Given the description of an element on the screen output the (x, y) to click on. 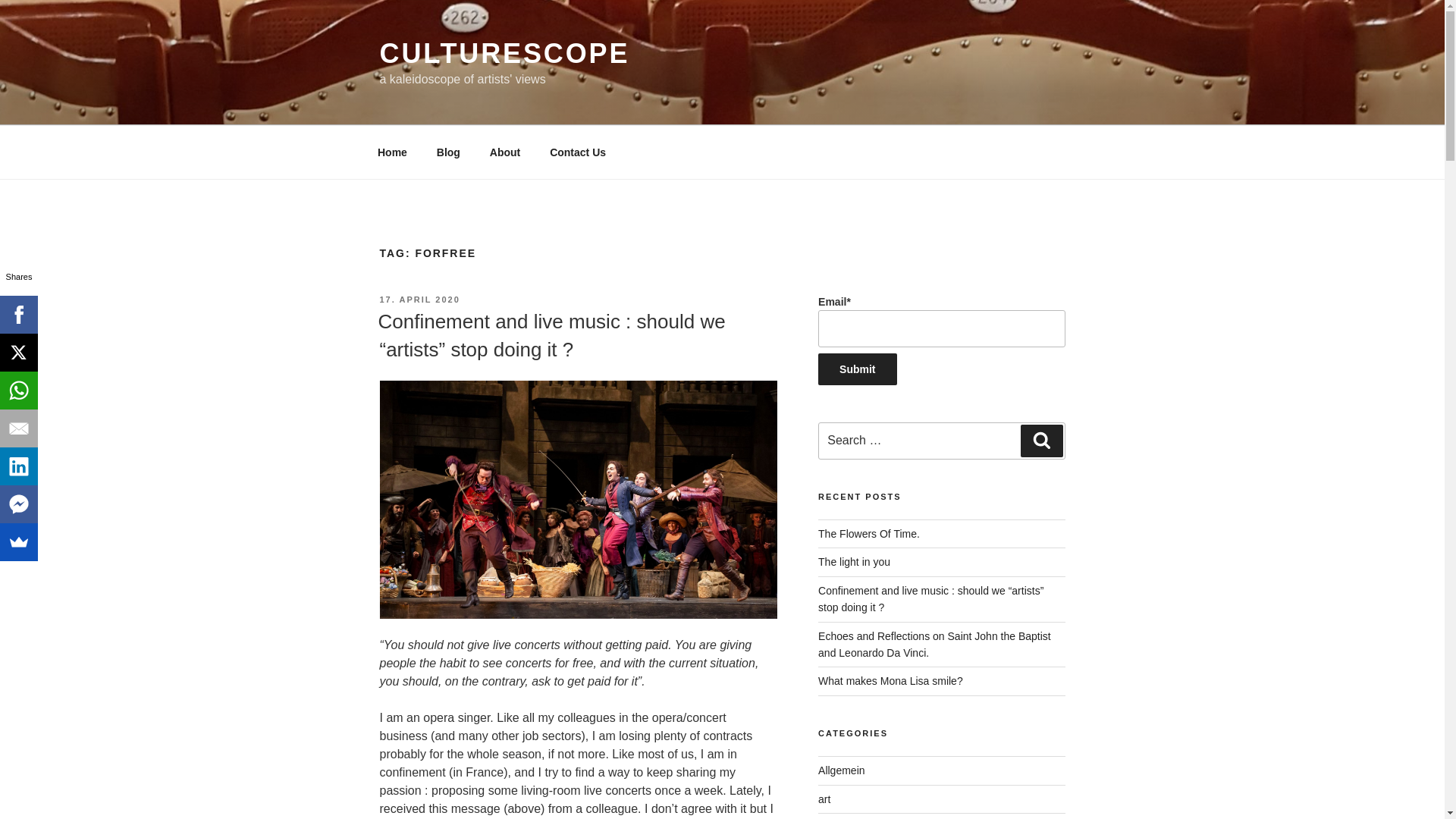
Submit (857, 368)
Blog (448, 151)
17. APRIL 2020 (419, 298)
Contact Us (578, 151)
WhatsApp (18, 390)
Search (1041, 440)
Facebook Send (18, 504)
art (823, 799)
X (18, 352)
CULTURESCOPE (503, 52)
Home (392, 151)
Submit (857, 368)
The light in you (853, 562)
LinkedIn (18, 466)
